Given the description of an element on the screen output the (x, y) to click on. 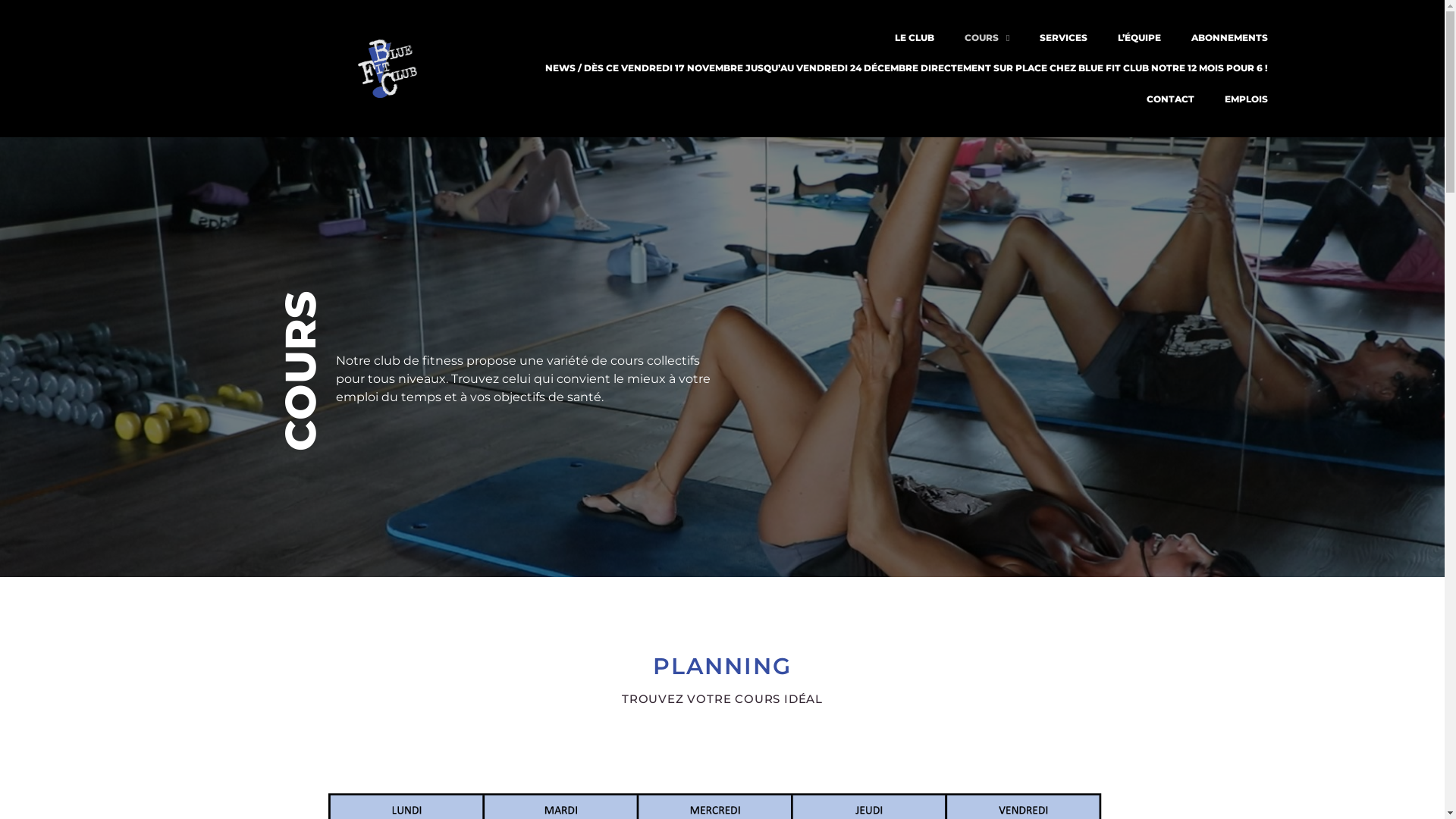
EMPLOIS Element type: text (1246, 99)
CONTACT Element type: text (1170, 99)
LE CLUB Element type: text (914, 37)
COURS Element type: text (986, 37)
ABONNEMENTS Element type: text (1229, 37)
SERVICES Element type: text (1063, 37)
